Given the description of an element on the screen output the (x, y) to click on. 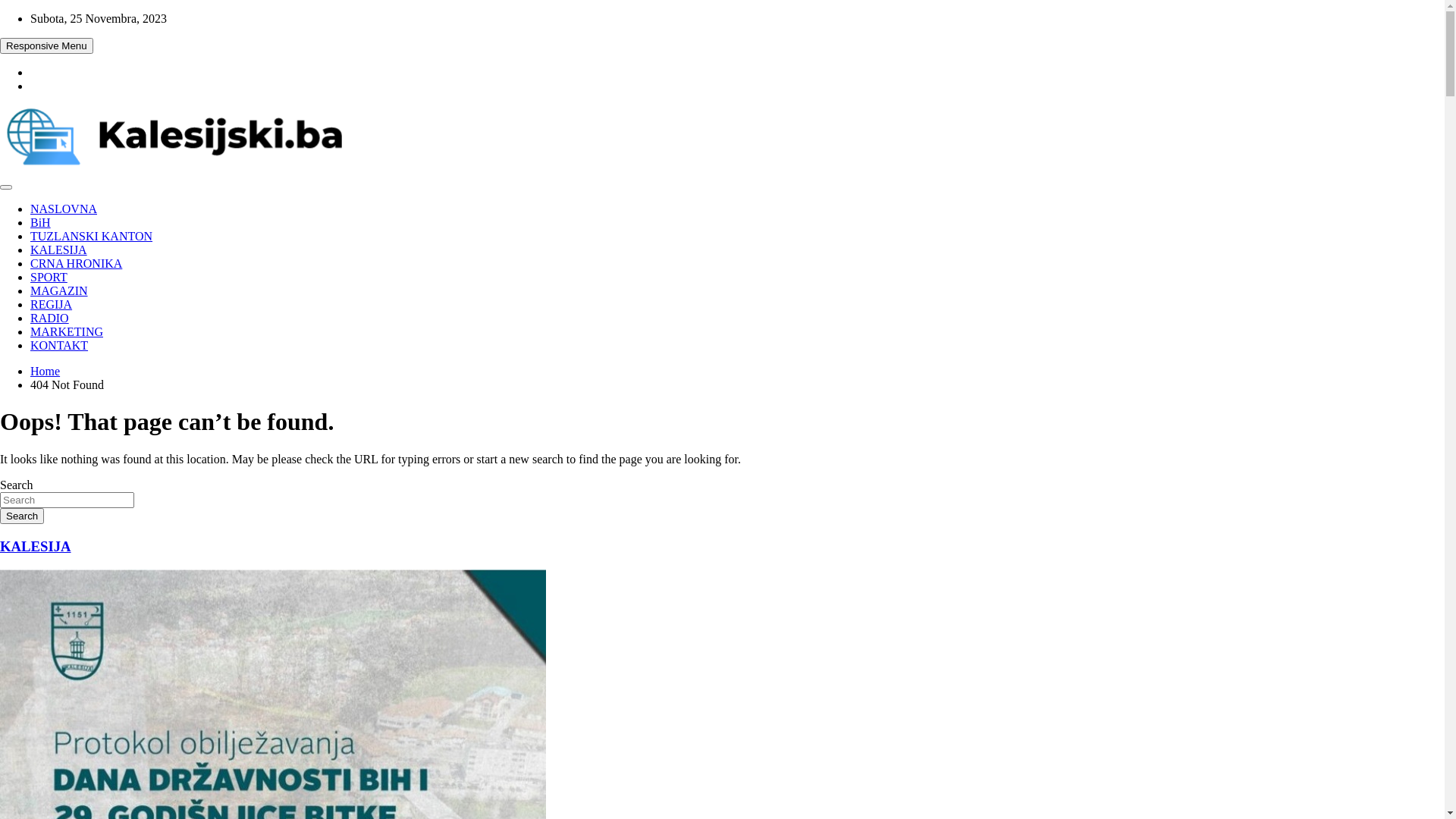
CRNA HRONIKA Element type: text (76, 263)
MARKETING Element type: text (66, 331)
Home Element type: text (44, 370)
SPORT Element type: text (48, 276)
MAGAZIN Element type: text (58, 290)
RADIO Element type: text (49, 317)
NASLOVNA Element type: text (63, 208)
KALESIJA Element type: text (35, 546)
BiH Element type: text (40, 222)
KALESIJA Element type: text (58, 249)
REGIJA Element type: text (51, 304)
TUZLANSKI KANTON Element type: text (91, 235)
KONTAKT Element type: text (58, 344)
Search Element type: text (21, 516)
Kalesijski.ba Element type: text (50, 201)
Responsive Menu Element type: text (46, 45)
